Given the description of an element on the screen output the (x, y) to click on. 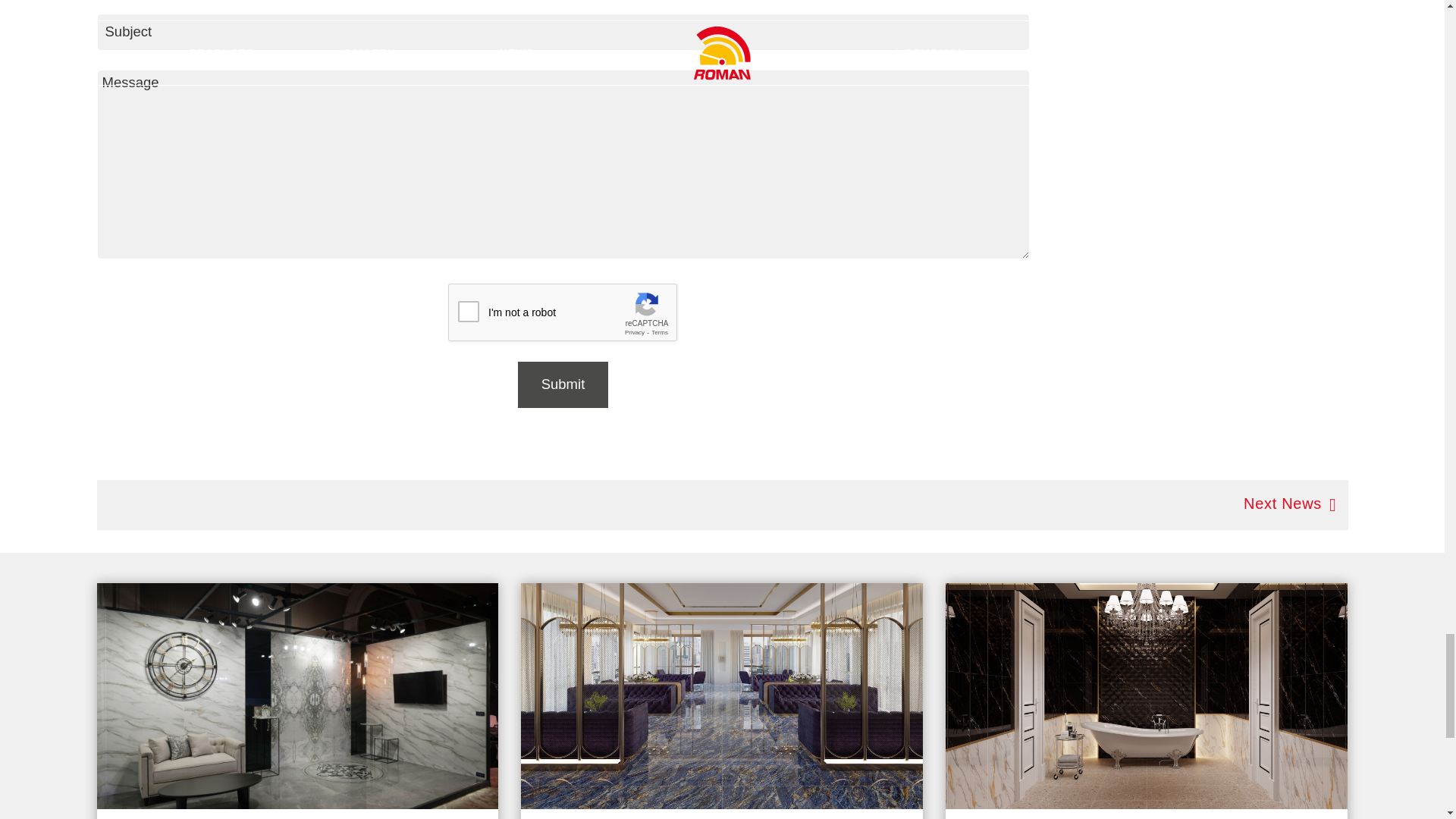
reCAPTCHA (562, 313)
